Given the description of an element on the screen output the (x, y) to click on. 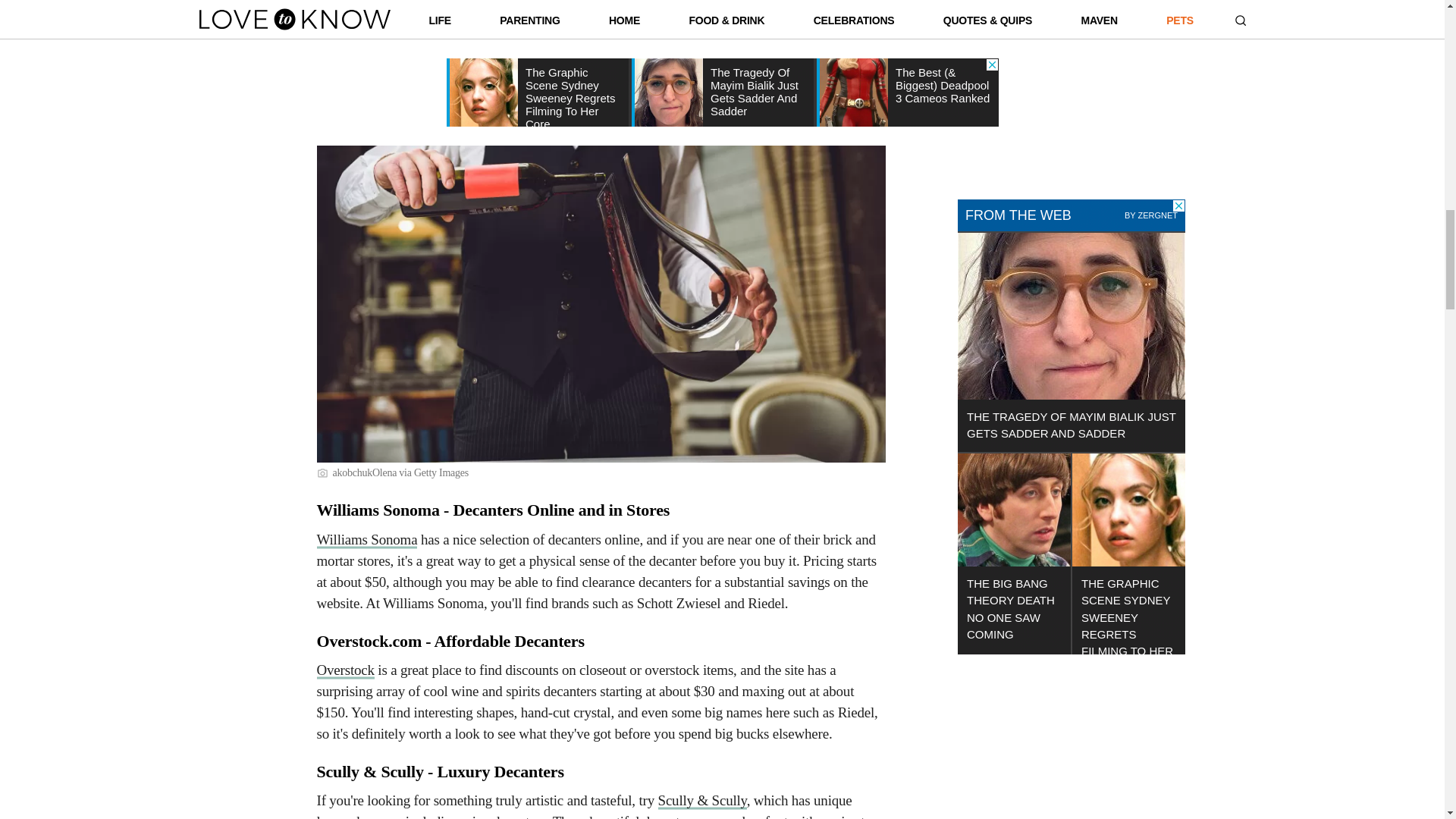
on (966, 100)
